Given the description of an element on the screen output the (x, y) to click on. 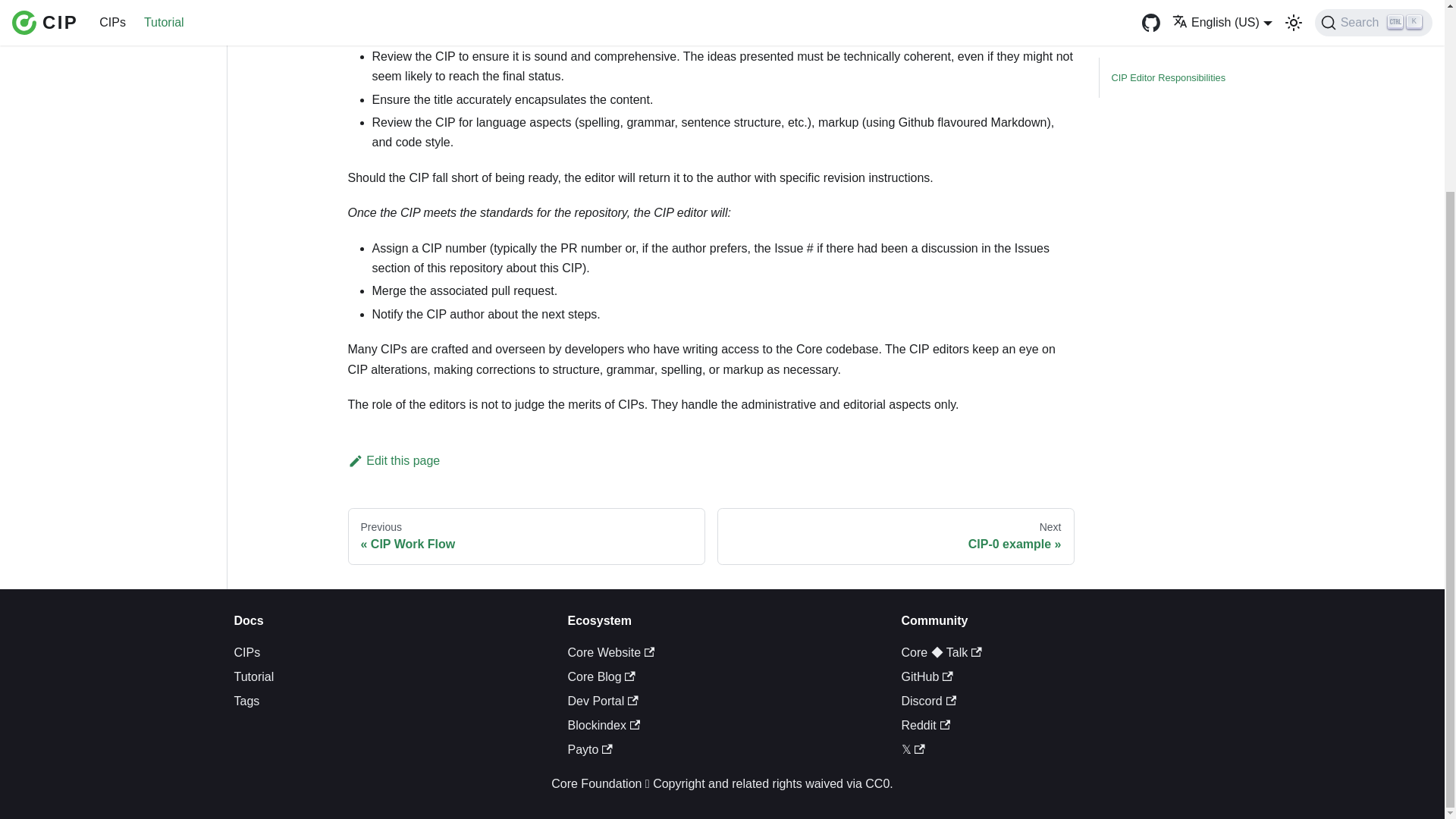
Edit this page (525, 536)
Tutorial (393, 460)
Tags (895, 536)
Core Website (252, 676)
Core Blog (245, 700)
CIPs (610, 652)
Blockindex (600, 676)
Dev Portal (246, 652)
